Given the description of an element on the screen output the (x, y) to click on. 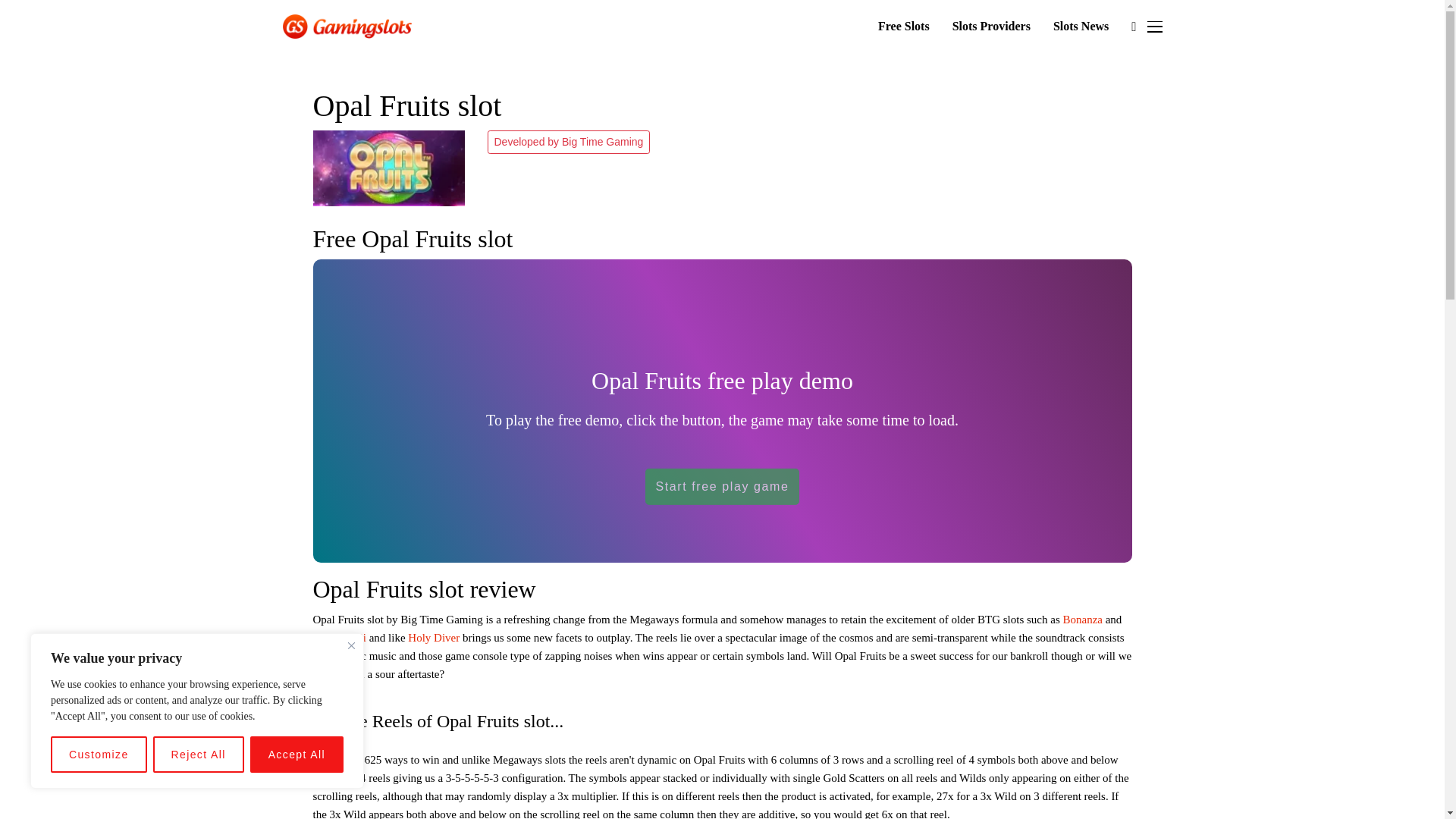
Start free play game (721, 486)
Slots News (1080, 26)
Free Slots (903, 26)
Reject All (198, 754)
Customize (98, 754)
Accept All (296, 754)
Holy Diver (433, 637)
Developed by Big Time Gaming (567, 141)
Extra Chilli (339, 637)
Slots Providers (991, 26)
Bonanza (1082, 619)
